Given the description of an element on the screen output the (x, y) to click on. 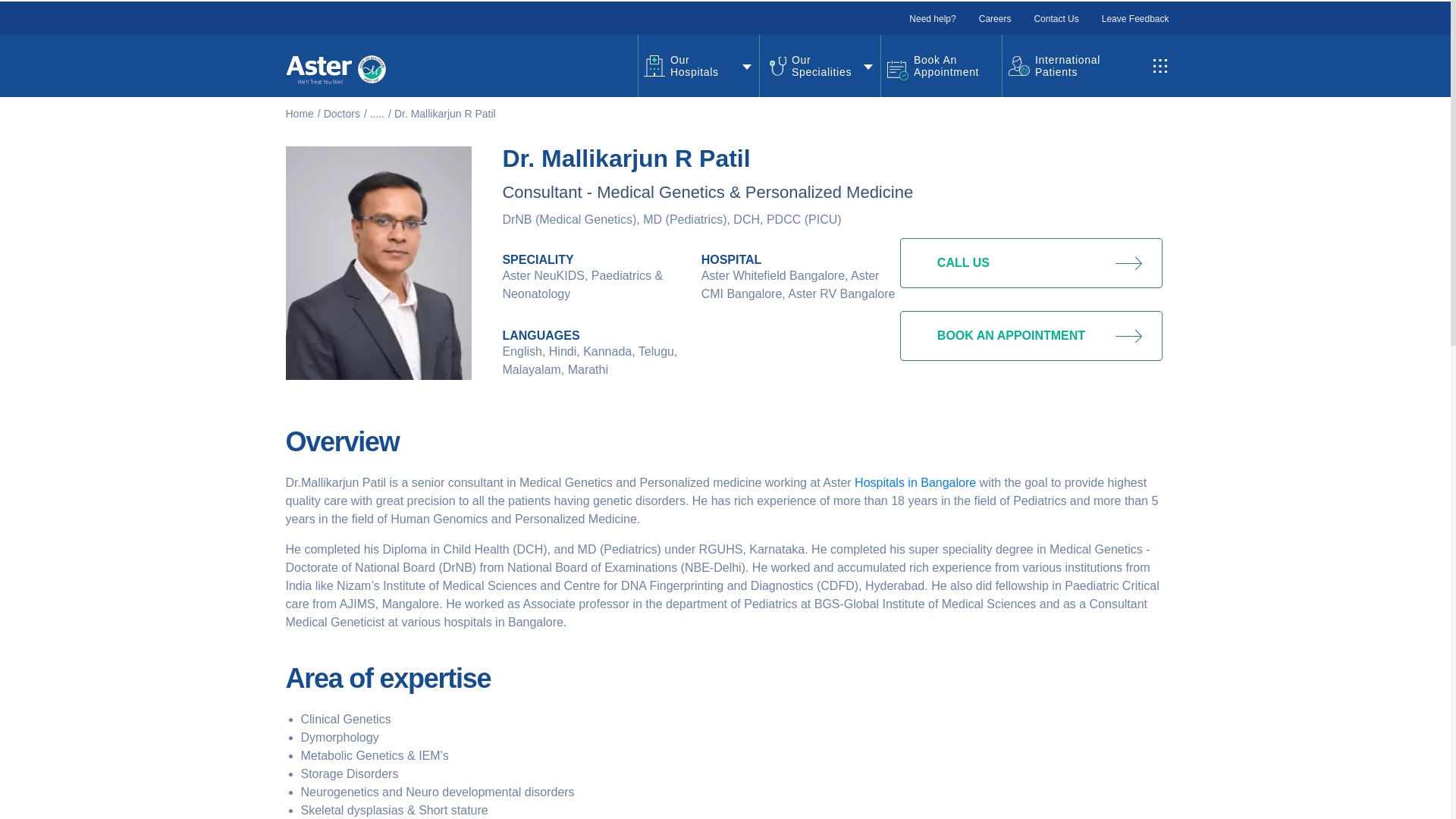
Careers (994, 18)
Need help? (931, 18)
Leave Feedback (1135, 18)
Contact Us (1055, 18)
